Given the description of an element on the screen output the (x, y) to click on. 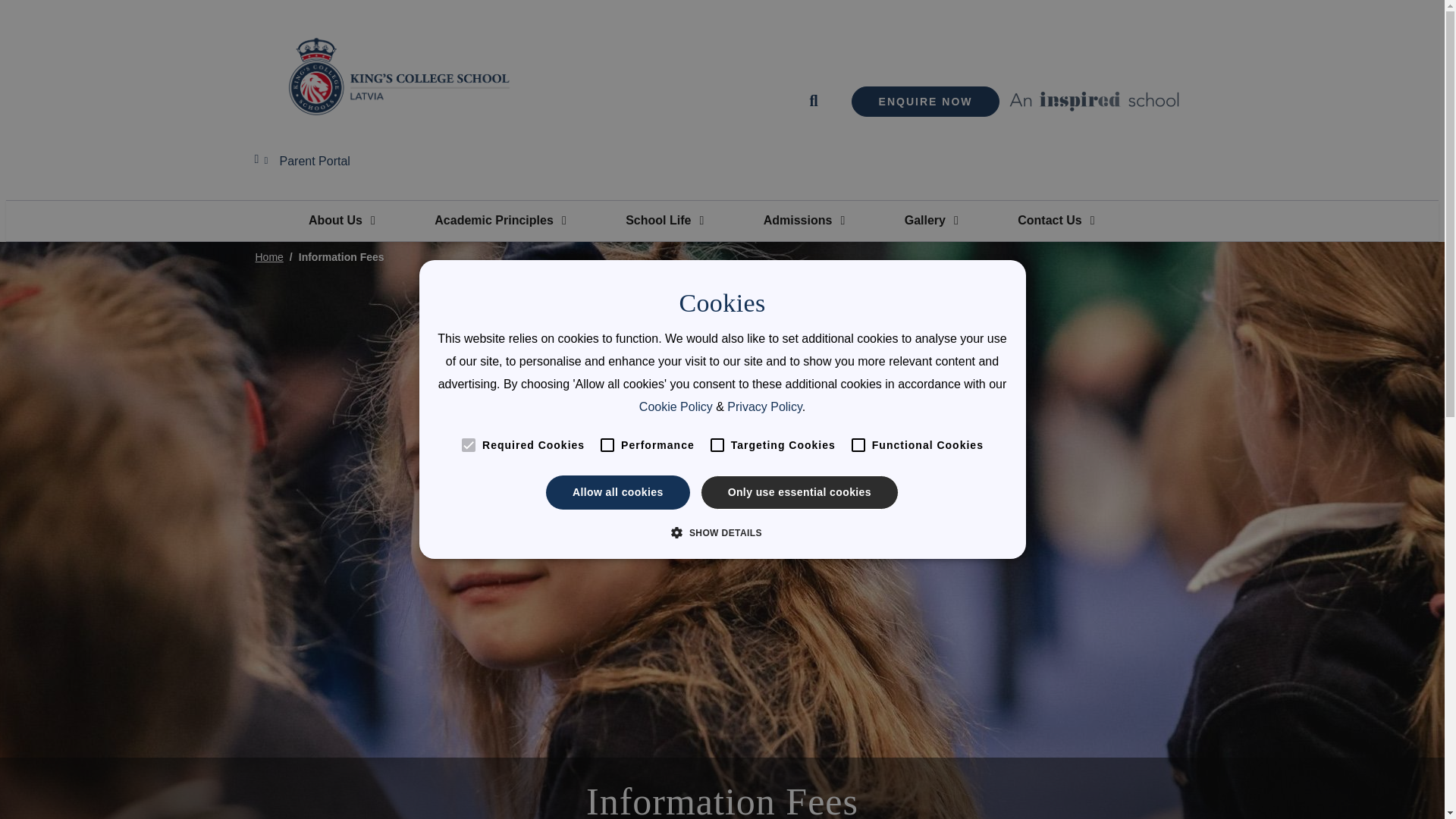
Search Icon (817, 100)
Skip to main content (721, 3)
King's College Latvia (397, 76)
ENQUIRE NOW (925, 101)
Parent Portal (309, 161)
